Given the description of an element on the screen output the (x, y) to click on. 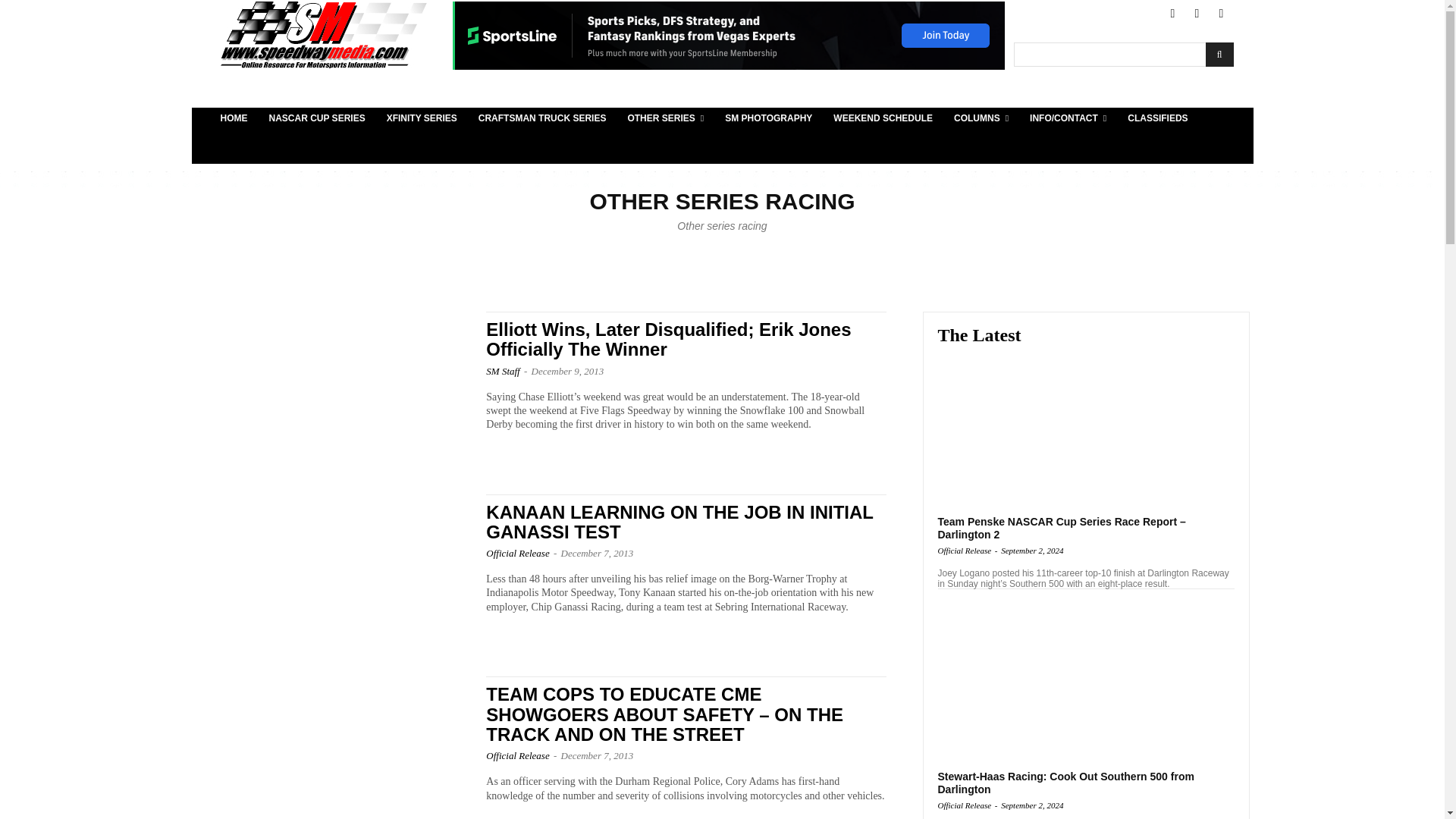
Instagram (1220, 13)
KANAAN LEARNING ON THE JOB IN INITIAL GANASSI TEST (679, 522)
HOME (233, 117)
Facebook (1172, 13)
NASCAR CUP SERIES (316, 117)
KANAAN LEARNING ON THE JOB IN INITIAL GANASSI TEST (331, 570)
Twitter (1196, 13)
